Given the description of an element on the screen output the (x, y) to click on. 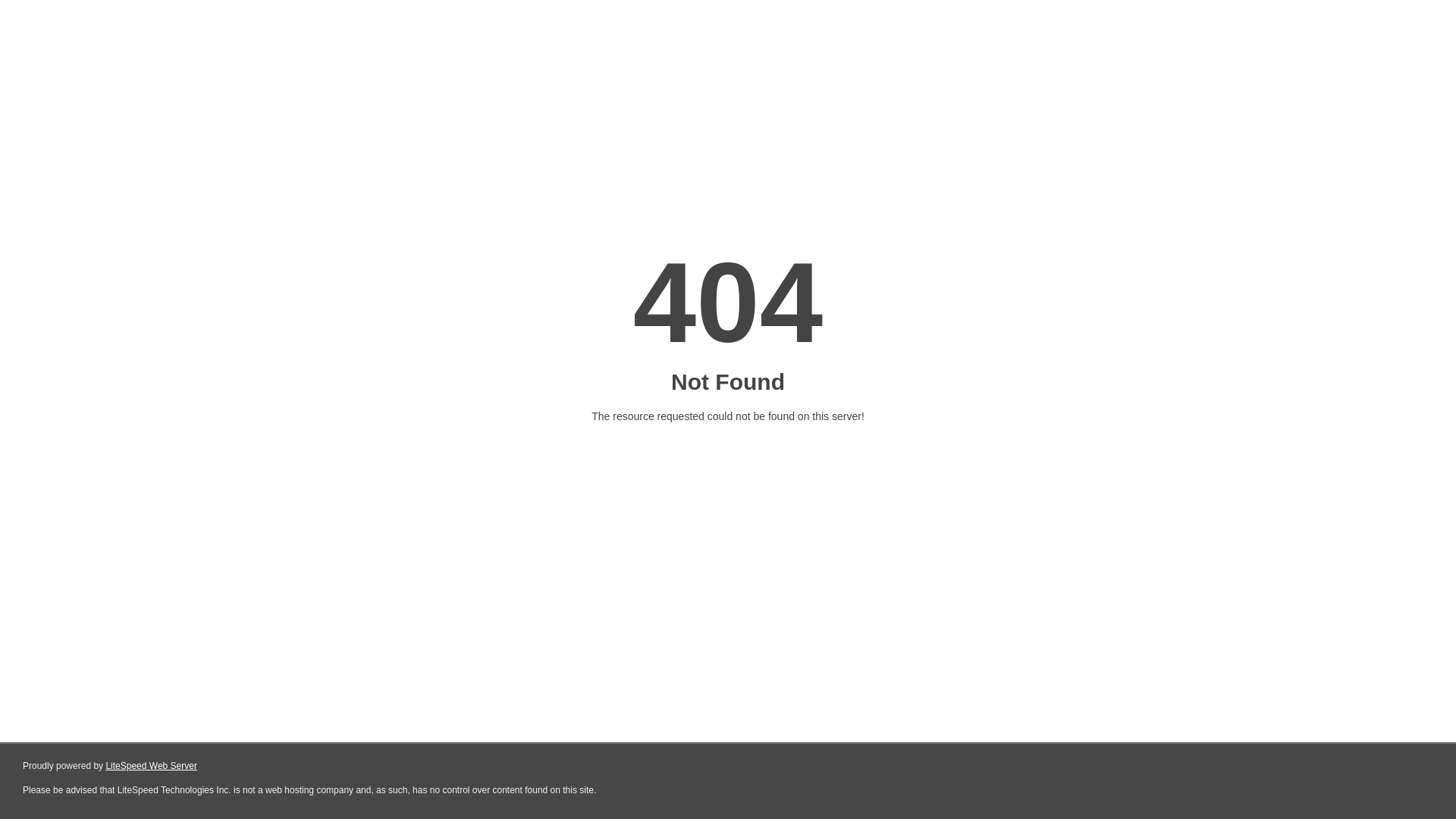
LiteSpeed Web Server Element type: text (151, 765)
